Given the description of an element on the screen output the (x, y) to click on. 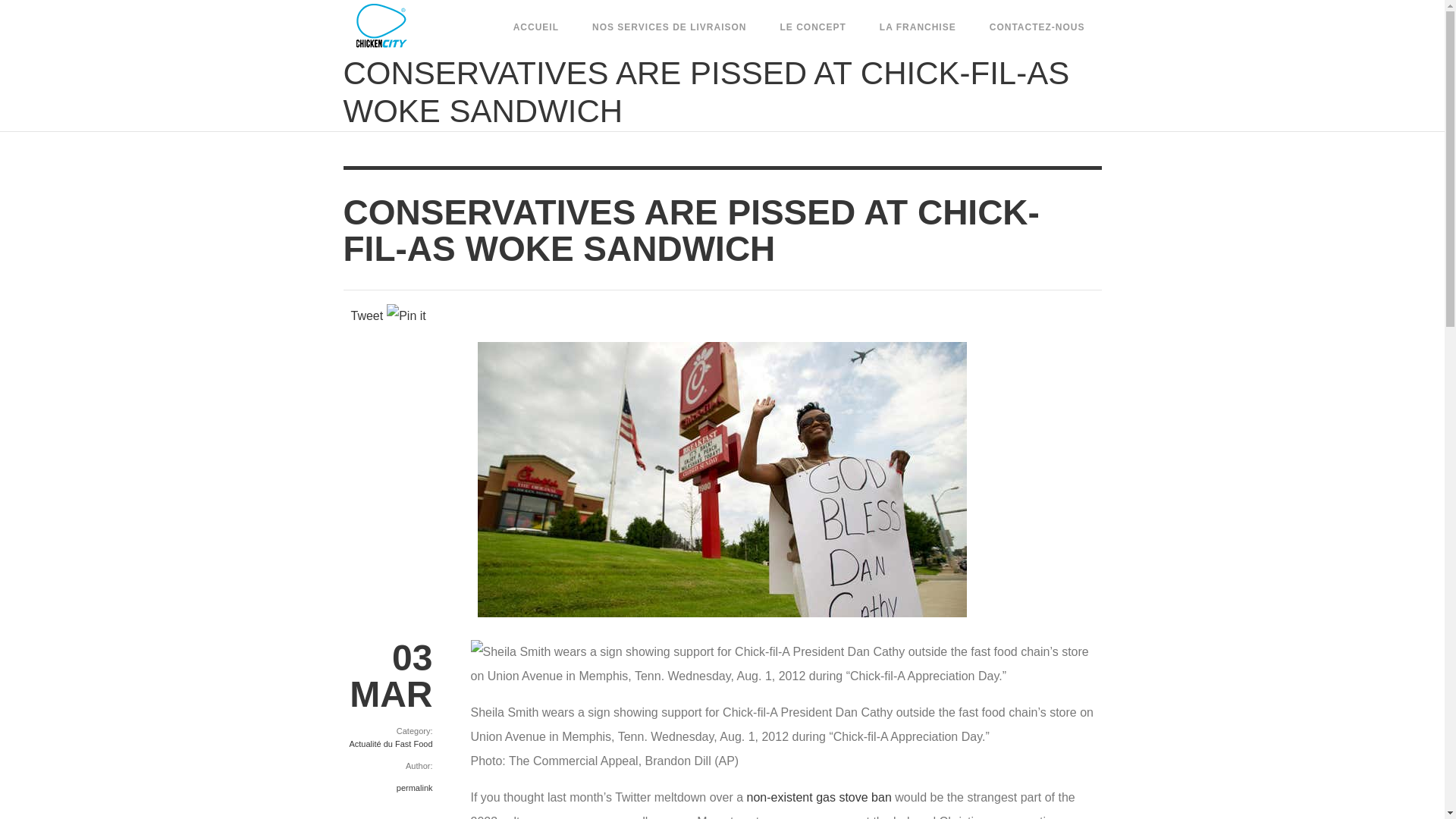
permalink (414, 787)
Tweet (366, 315)
CONTACTEZ-NOUS (1037, 27)
NOS SERVICES DE LIVRAISON (668, 27)
non-existent gas stove ban (818, 797)
Livraison de sandwichs, burgers et tacos la nuit (395, 25)
03 MAR (387, 675)
LE CONCEPT (811, 27)
ACCUEIL (535, 27)
10:22 am (387, 675)
LA FRANCHISE (917, 27)
